Given the description of an element on the screen output the (x, y) to click on. 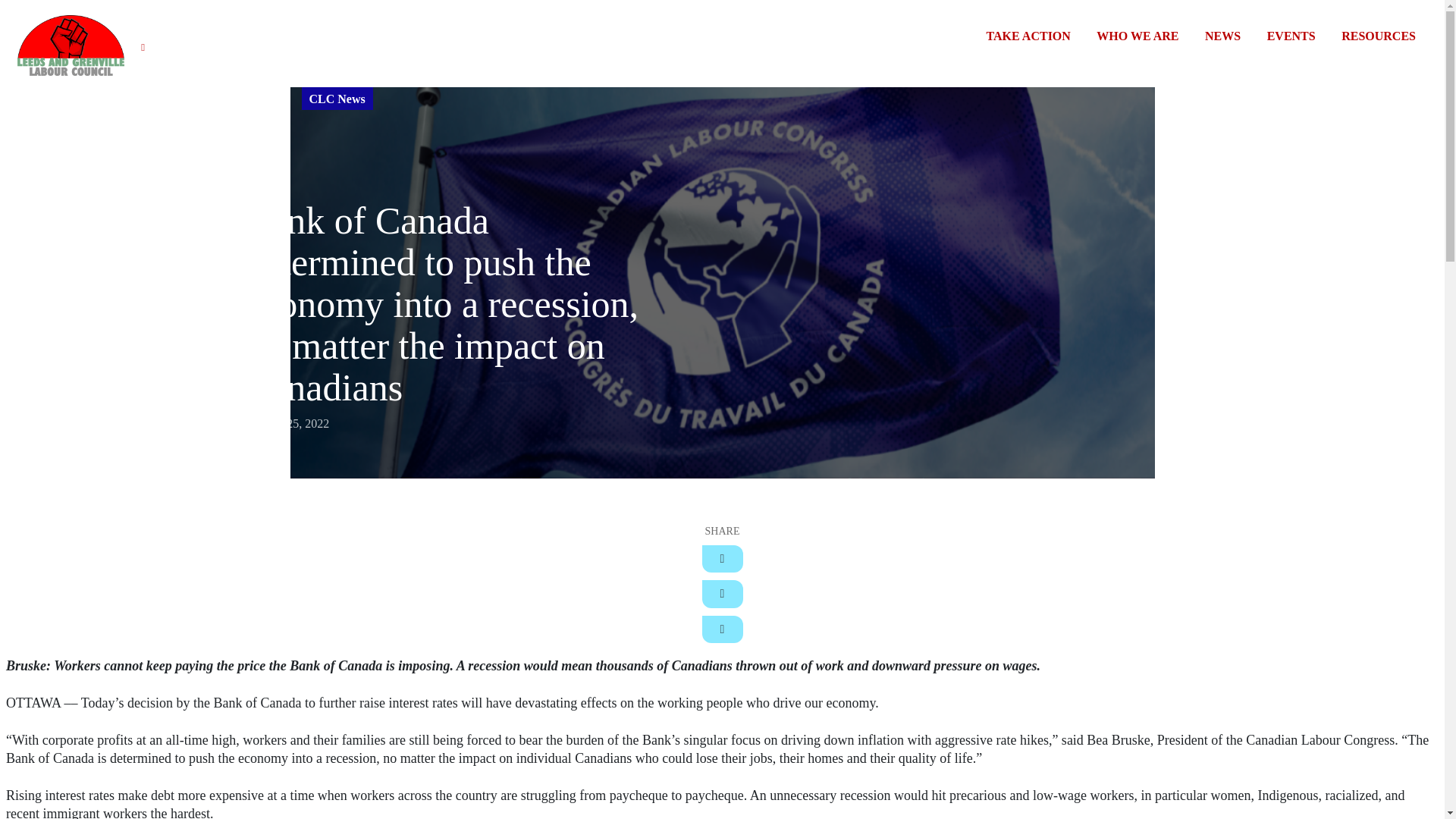
TAKE ACTION (1028, 36)
EVENTS (1291, 36)
NEWS (1222, 36)
WHO WE ARE (1136, 36)
RESOURCES (1377, 36)
